Given the description of an element on the screen output the (x, y) to click on. 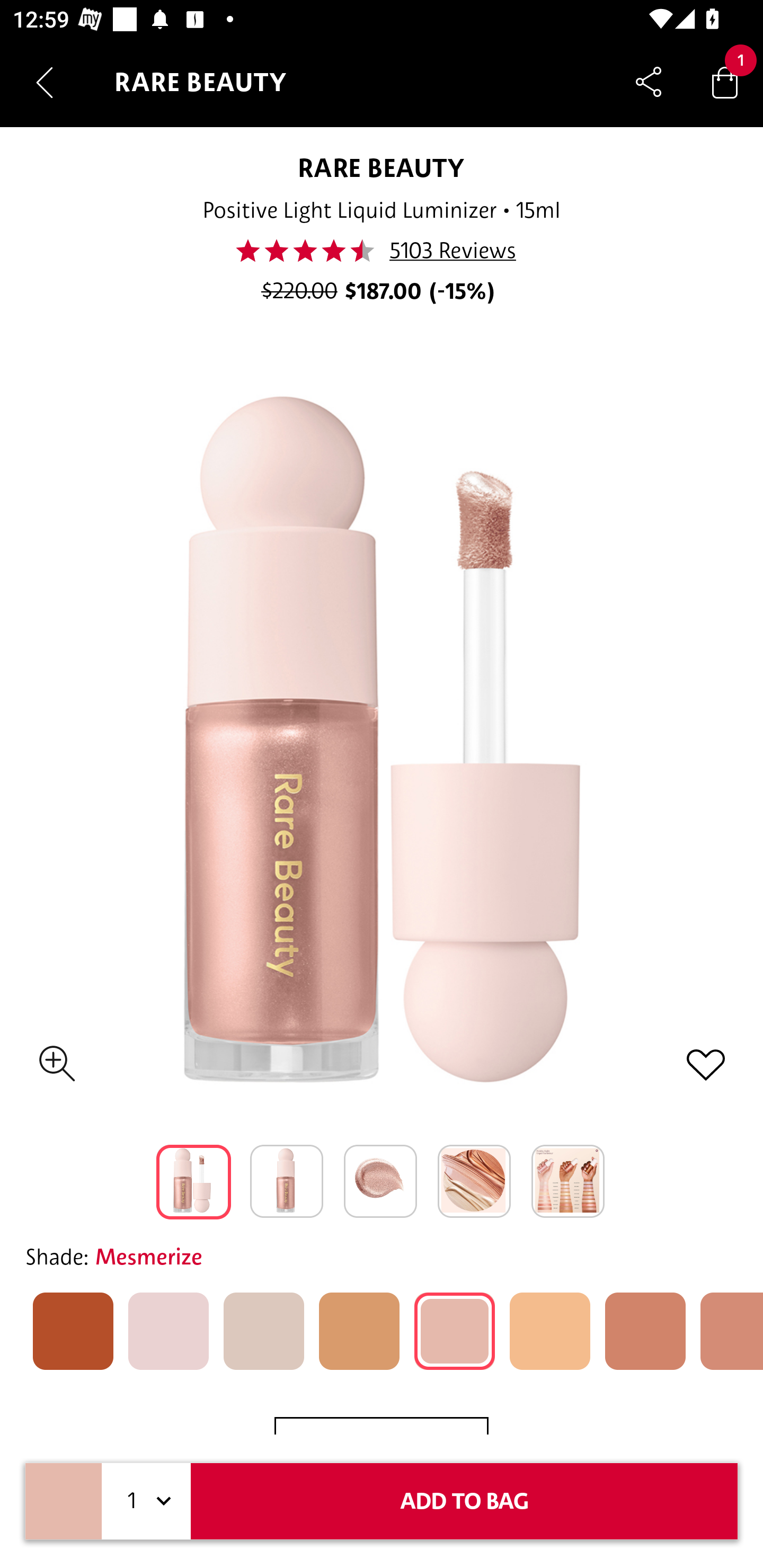
Navigate up (44, 82)
Share (648, 81)
Bag (724, 81)
RARE BEAUTY (381, 167)
45.0 5103 Reviews (380, 250)
1 (145, 1500)
ADD TO BAG (463, 1500)
